Given the description of an element on the screen output the (x, y) to click on. 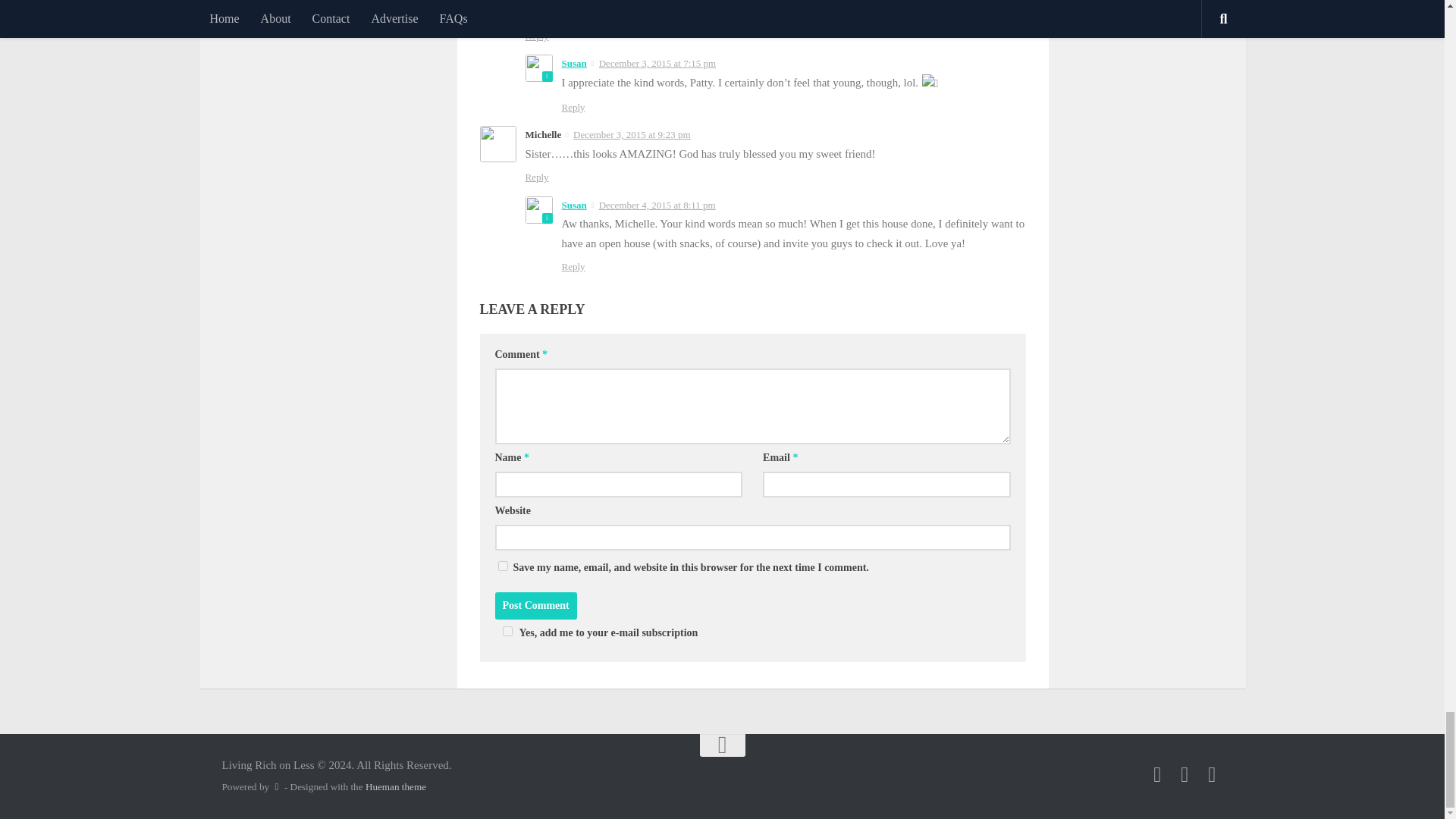
yes (501, 565)
1 (506, 631)
Post Comment (535, 605)
Powered by WordPress (275, 786)
